Given the description of an element on the screen output the (x, y) to click on. 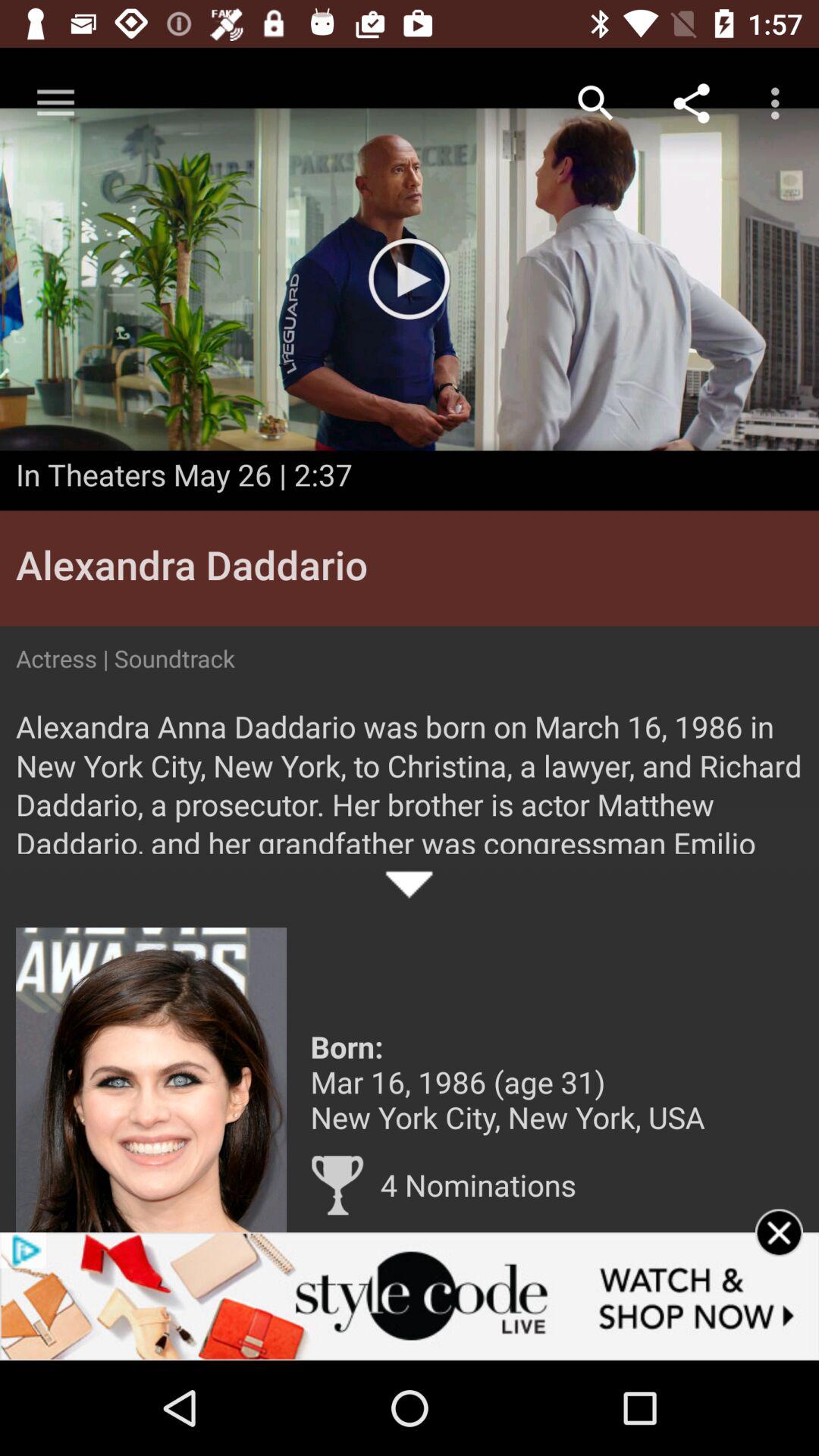
close the advertisement popup (779, 1252)
